Given the description of an element on the screen output the (x, y) to click on. 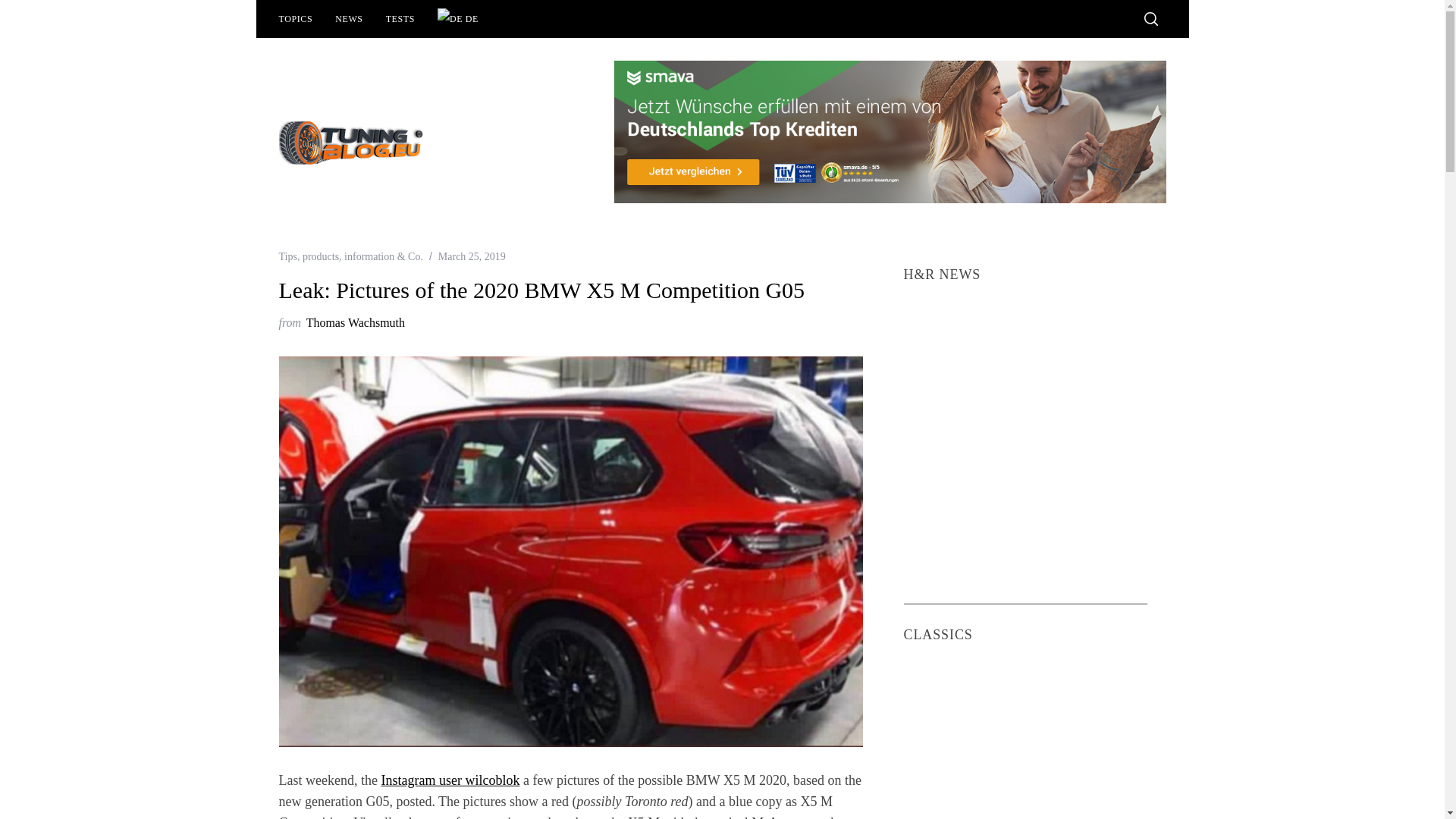
TOPICS (294, 18)
DE (457, 18)
NEWS (348, 18)
TESTS (400, 18)
Instagram user wilcoblok (449, 780)
Thomas Wachsmuth (354, 322)
